Given the description of an element on the screen output the (x, y) to click on. 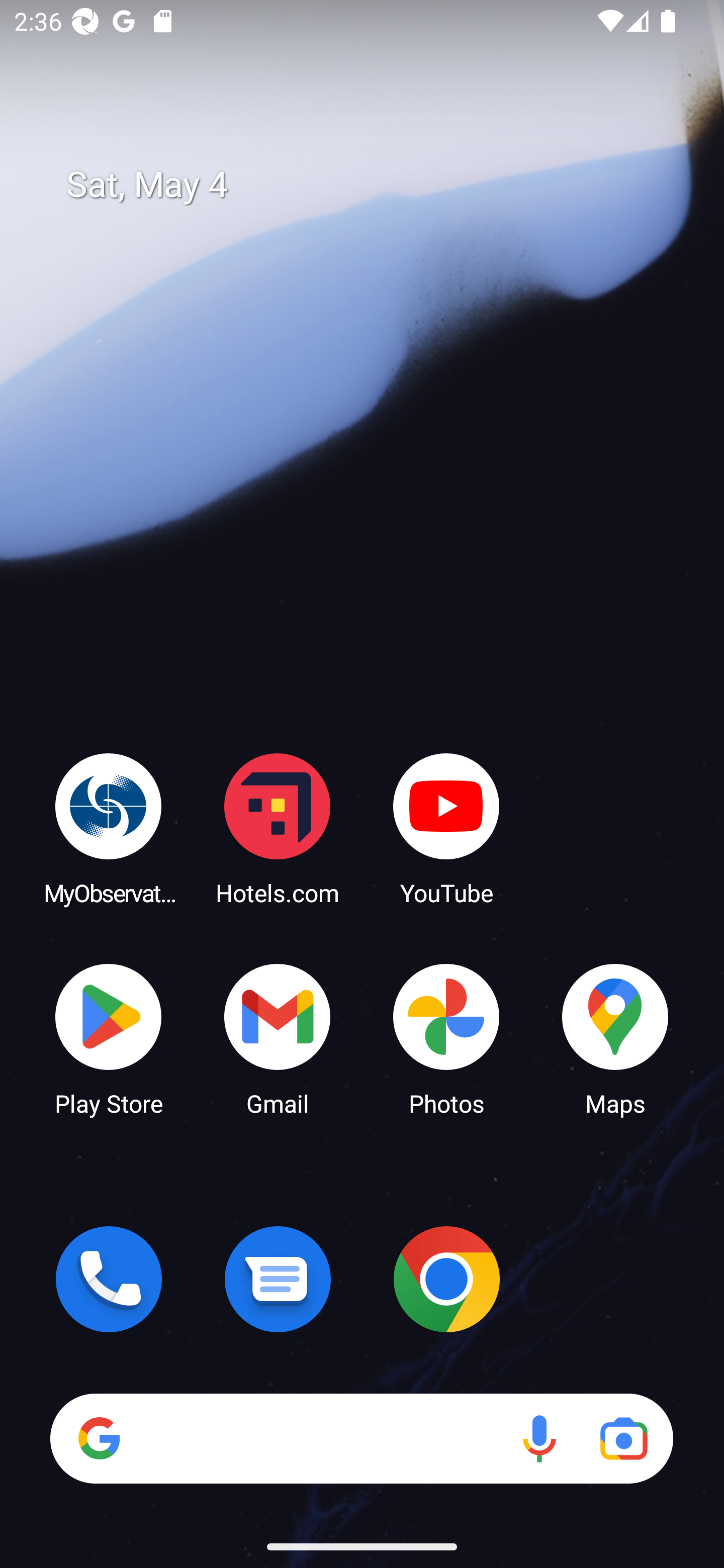
Sat, May 4 (375, 184)
MyObservatory (108, 828)
Hotels.com (277, 828)
YouTube (445, 828)
Play Store (108, 1038)
Gmail (277, 1038)
Photos (445, 1038)
Maps (615, 1038)
Phone (108, 1279)
Messages (277, 1279)
Chrome (446, 1279)
Search Voice search Google Lens (361, 1438)
Voice search (539, 1438)
Google Lens (623, 1438)
